Given the description of an element on the screen output the (x, y) to click on. 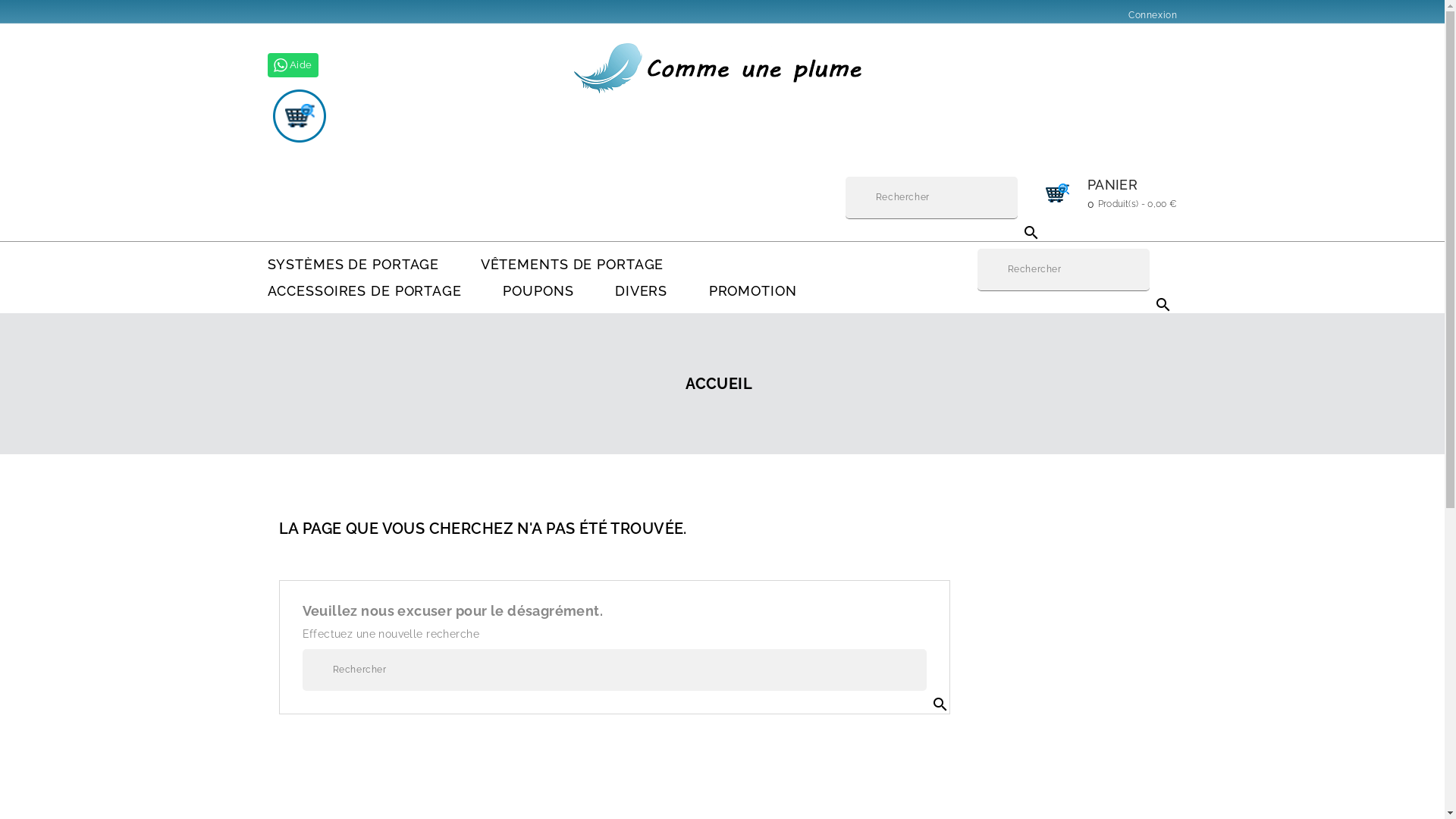
POUPONS Element type: text (537, 290)
PROMOTION Element type: text (753, 290)
ACCUEIL Element type: text (718, 383)
ACCESSOIRES DE PORTAGE Element type: text (363, 290)
Aller au panier Element type: hover (297, 115)
Connexion Element type: text (1152, 14)
DIVERS Element type: text (641, 290)
Aide Element type: text (721, 64)
Aller au panier Element type: hover (297, 115)
